Given the description of an element on the screen output the (x, y) to click on. 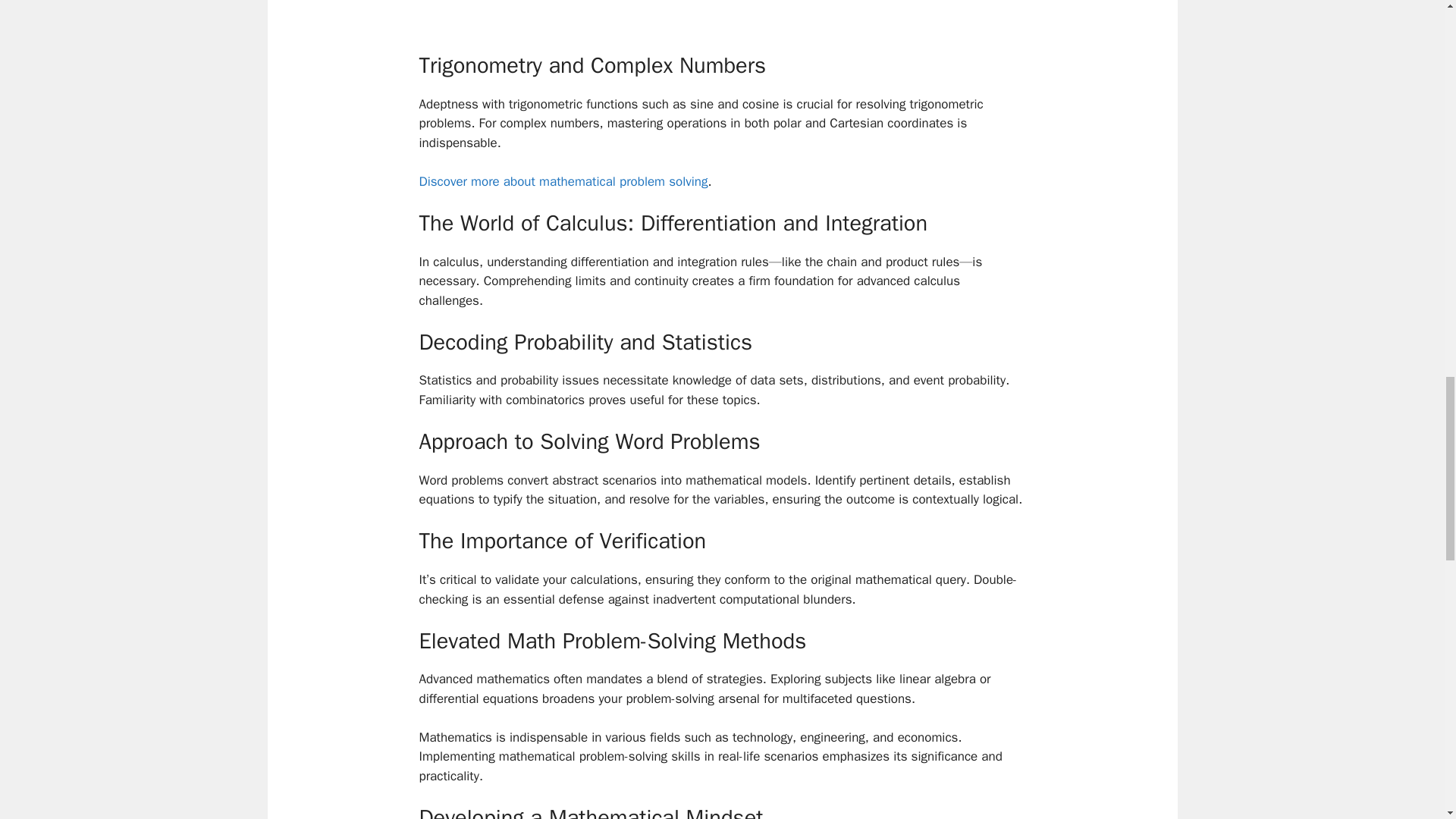
Discover more about mathematical problem solving (563, 181)
